Given the description of an element on the screen output the (x, y) to click on. 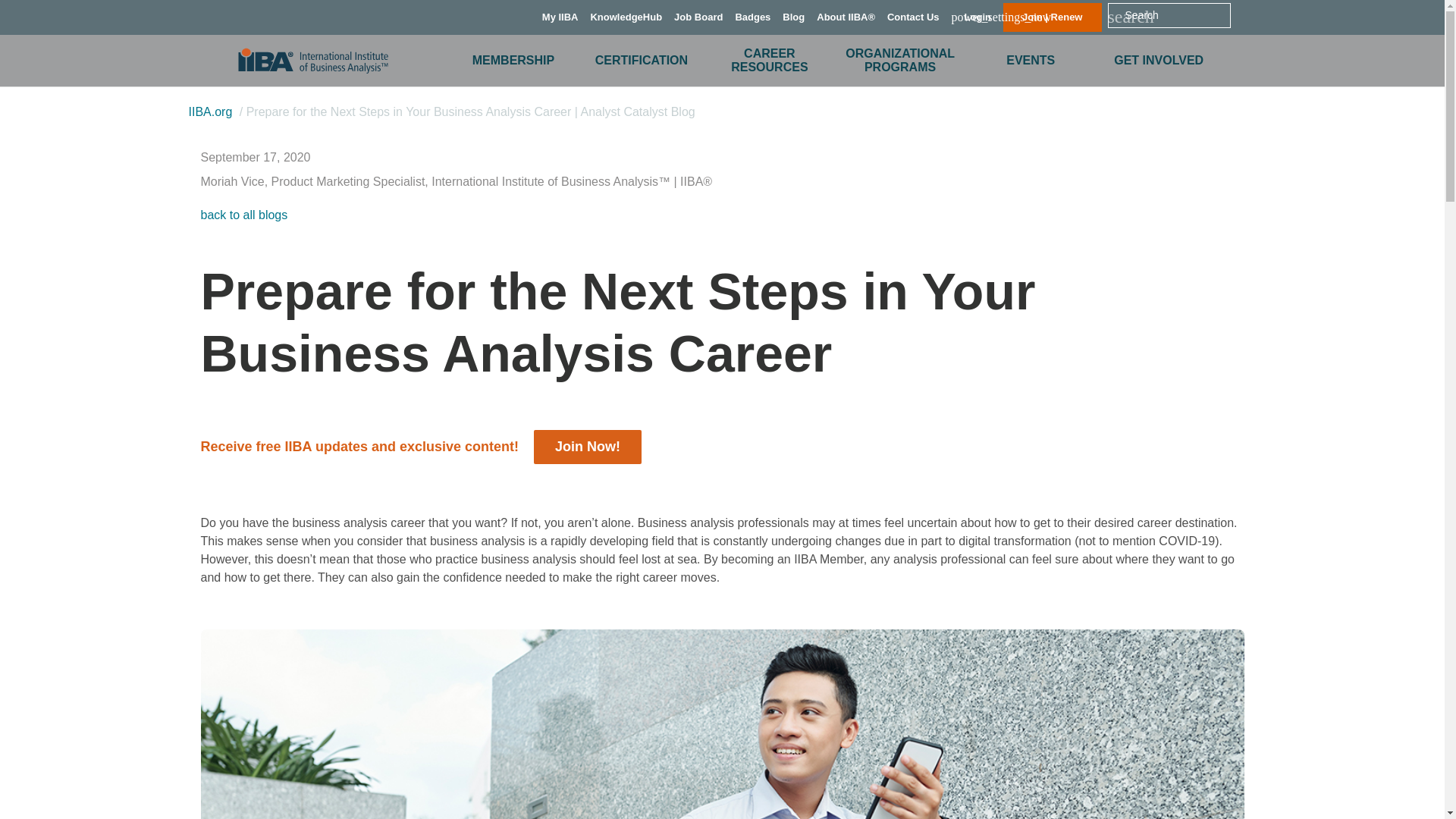
CERTIFICATION (641, 59)
My IIBA (559, 17)
CAREER RESOURCES (768, 60)
MEMBERSHIP (513, 59)
Job Board (698, 17)
Sign Up for IIBA Emails (587, 446)
Blog (794, 17)
Contact Us (912, 17)
KnowledgeHub (625, 17)
Badges (752, 17)
